Given the description of an element on the screen output the (x, y) to click on. 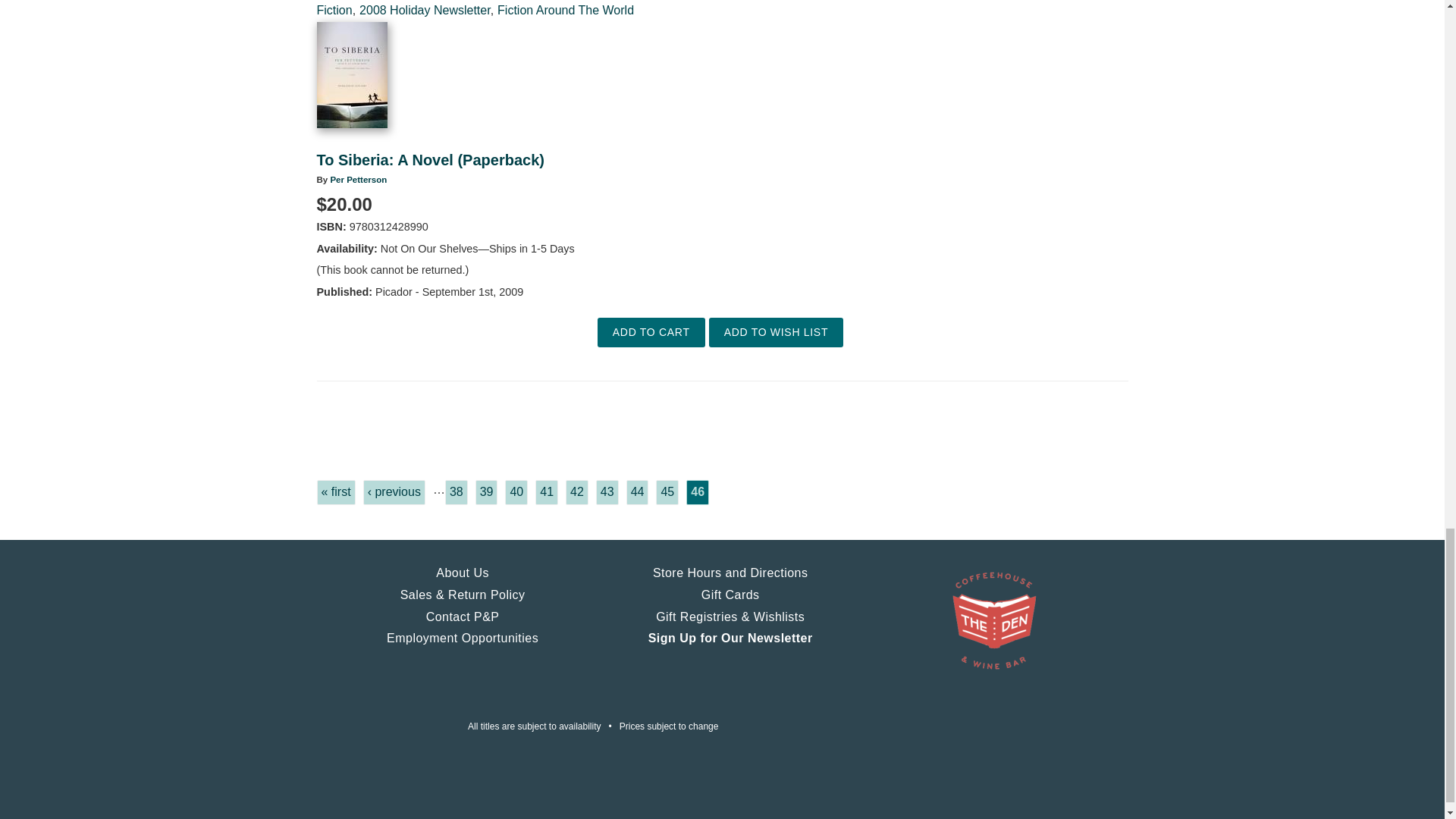
Add to Cart (650, 332)
Add to Wish List (776, 332)
